Given the description of an element on the screen output the (x, y) to click on. 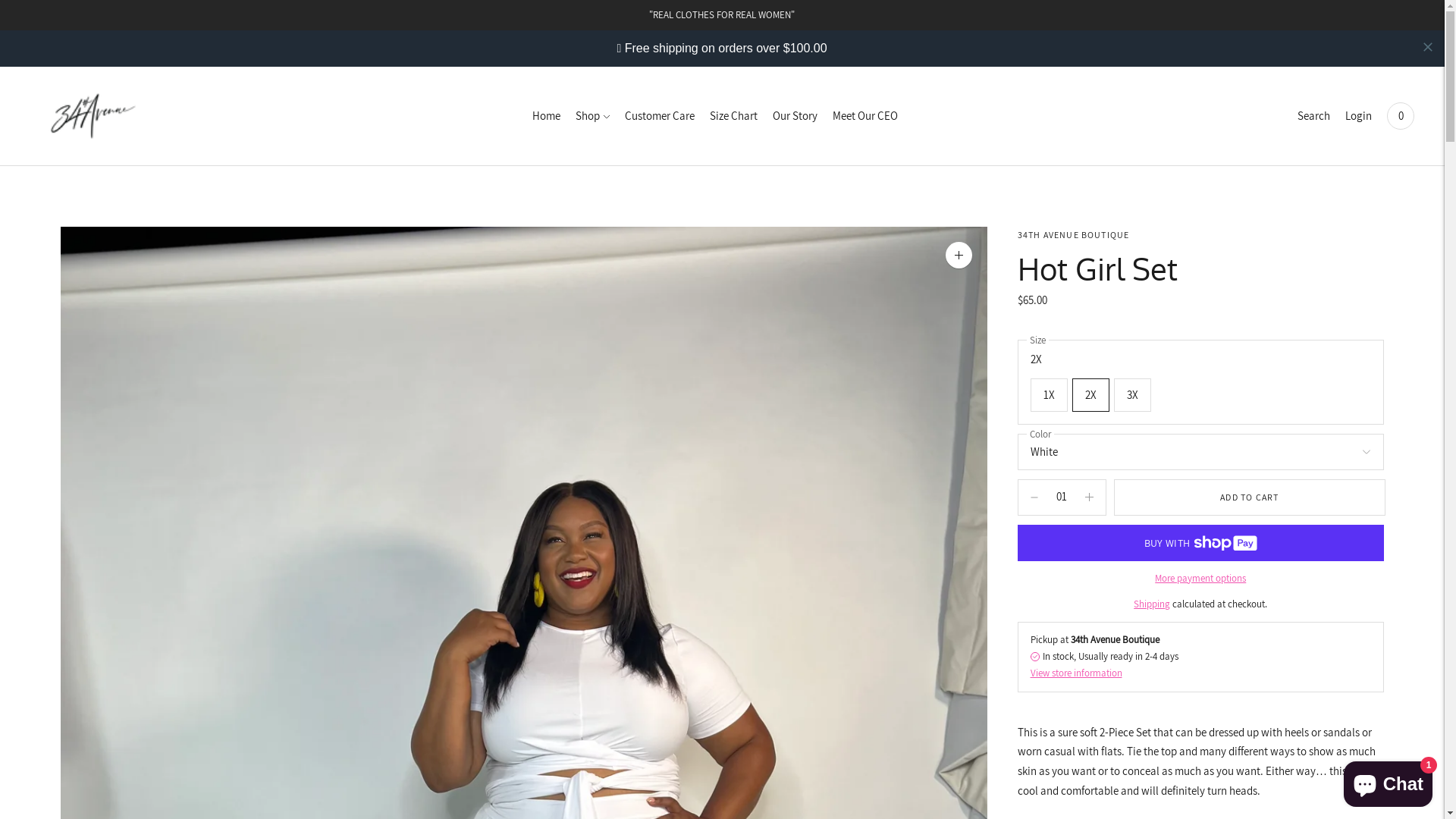
Login Element type: text (1358, 115)
Shop Element type: text (591, 115)
Home Element type: text (546, 115)
Shopify online store chat Element type: hover (1388, 780)
34TH AVENUE BOUTIQUE Element type: text (1073, 234)
Our Story Element type: text (793, 115)
View store information Element type: text (1075, 672)
Shipping Element type: text (1151, 603)
Meet Our CEO Element type: text (864, 115)
Search Element type: text (1313, 115)
0 Element type: text (1400, 115)
Size Chart Element type: text (733, 115)
ADD TO CART Element type: text (1249, 497)
More payment options Element type: text (1199, 578)
Customer Care Element type: text (659, 115)
